Given the description of an element on the screen output the (x, y) to click on. 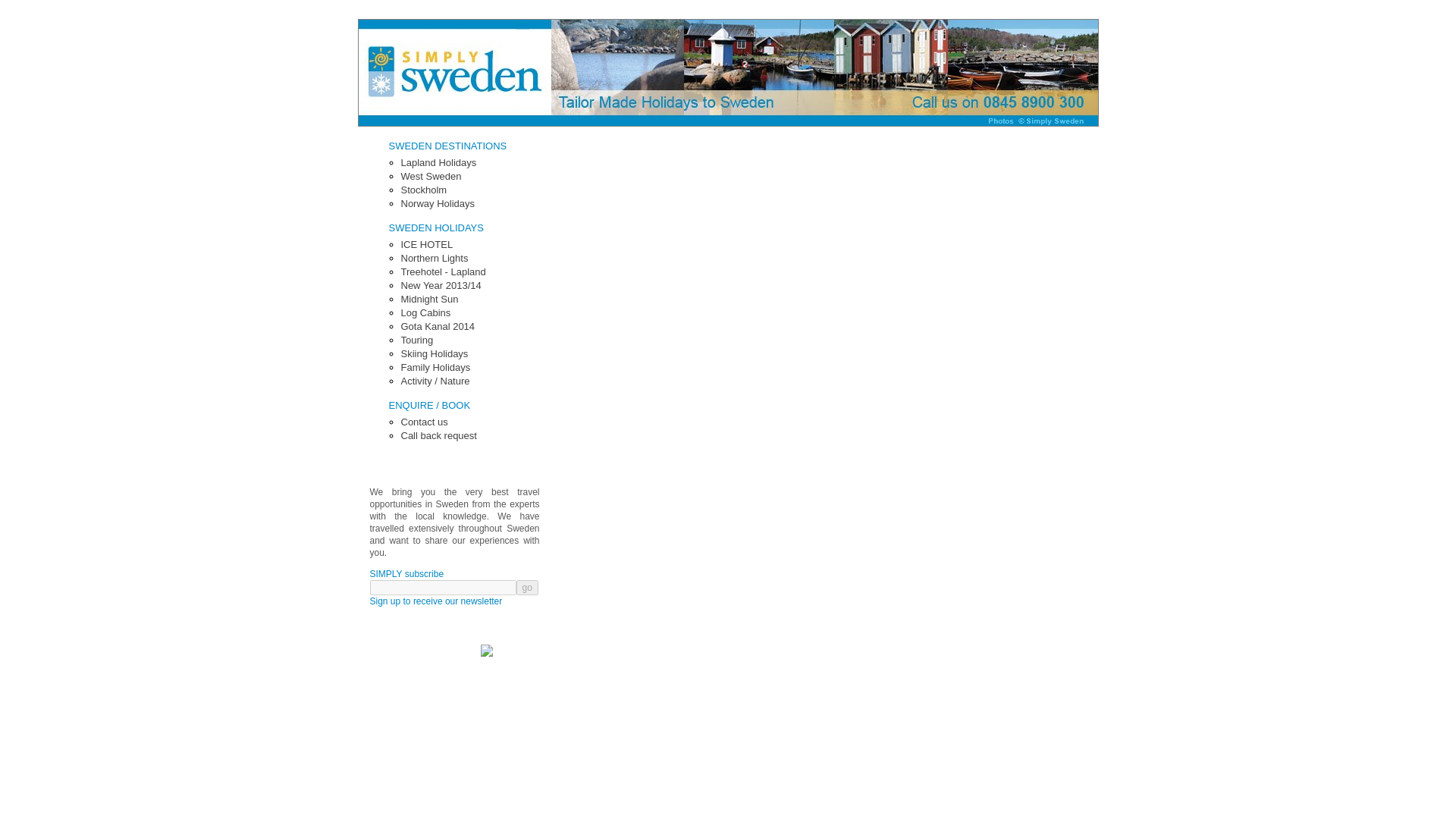
Family Holidays (435, 367)
Northern Lights (433, 257)
Log Cabins (424, 312)
Midnight Sun (429, 298)
Contact us (423, 421)
Gota Kanal 2014 (437, 326)
Touring (416, 339)
Stockholm (423, 189)
Skiing Holidays (433, 353)
Lapland Holidays (438, 162)
